Given the description of an element on the screen output the (x, y) to click on. 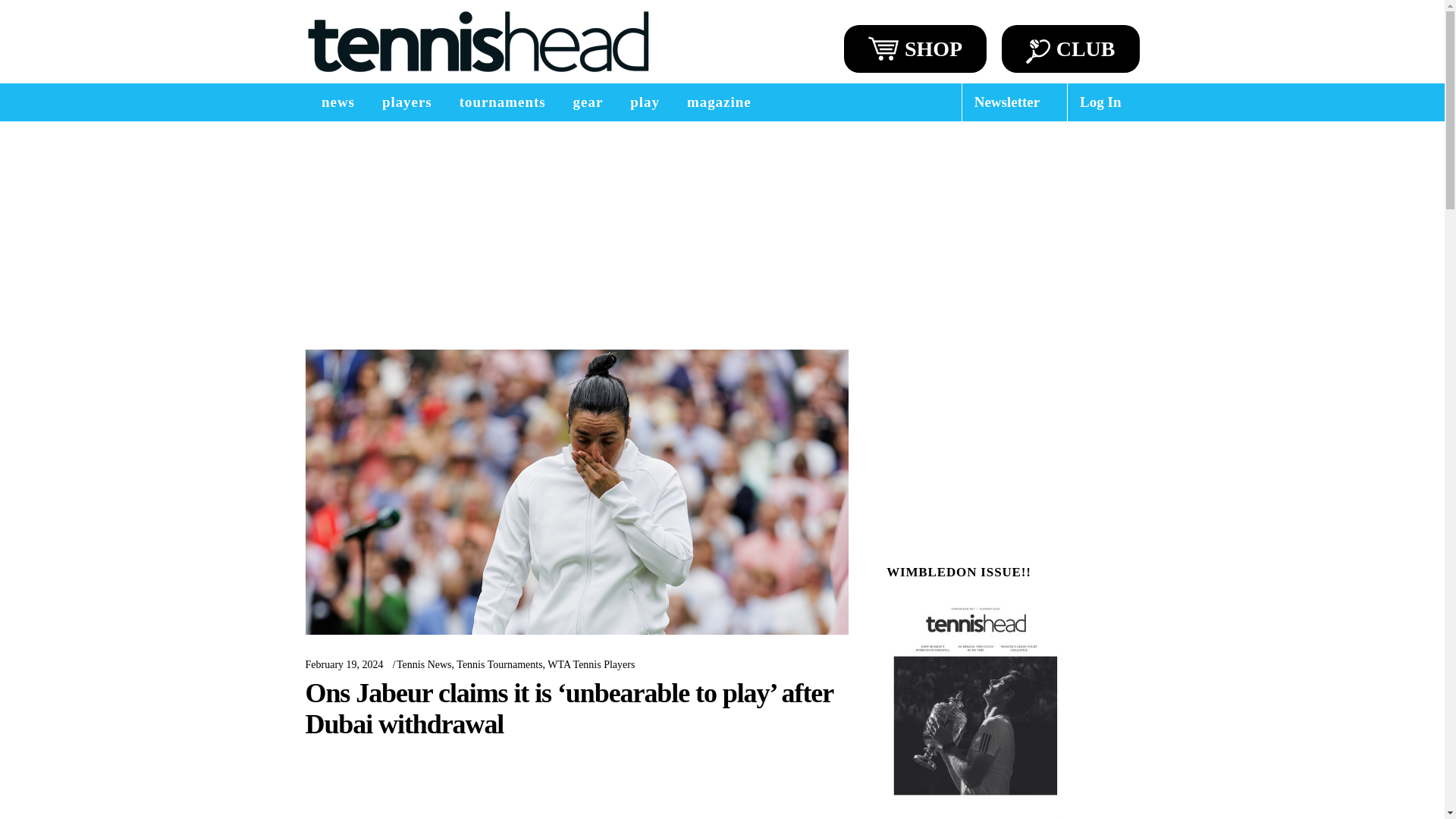
gear (588, 102)
tournaments (502, 102)
CLUB (1070, 48)
players (406, 102)
SHOP (915, 48)
play (643, 102)
news (337, 102)
